Given the description of an element on the screen output the (x, y) to click on. 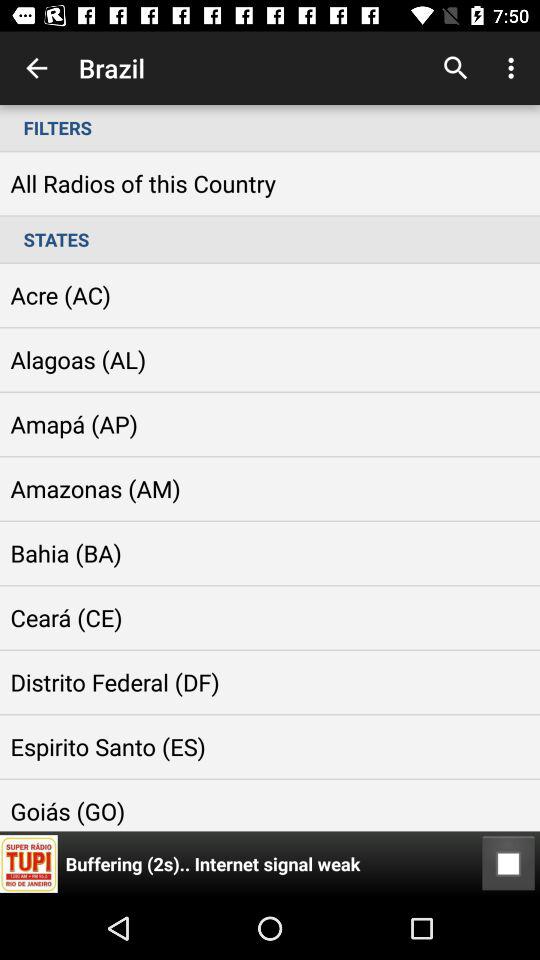
open the item above filters (513, 67)
